Given the description of an element on the screen output the (x, y) to click on. 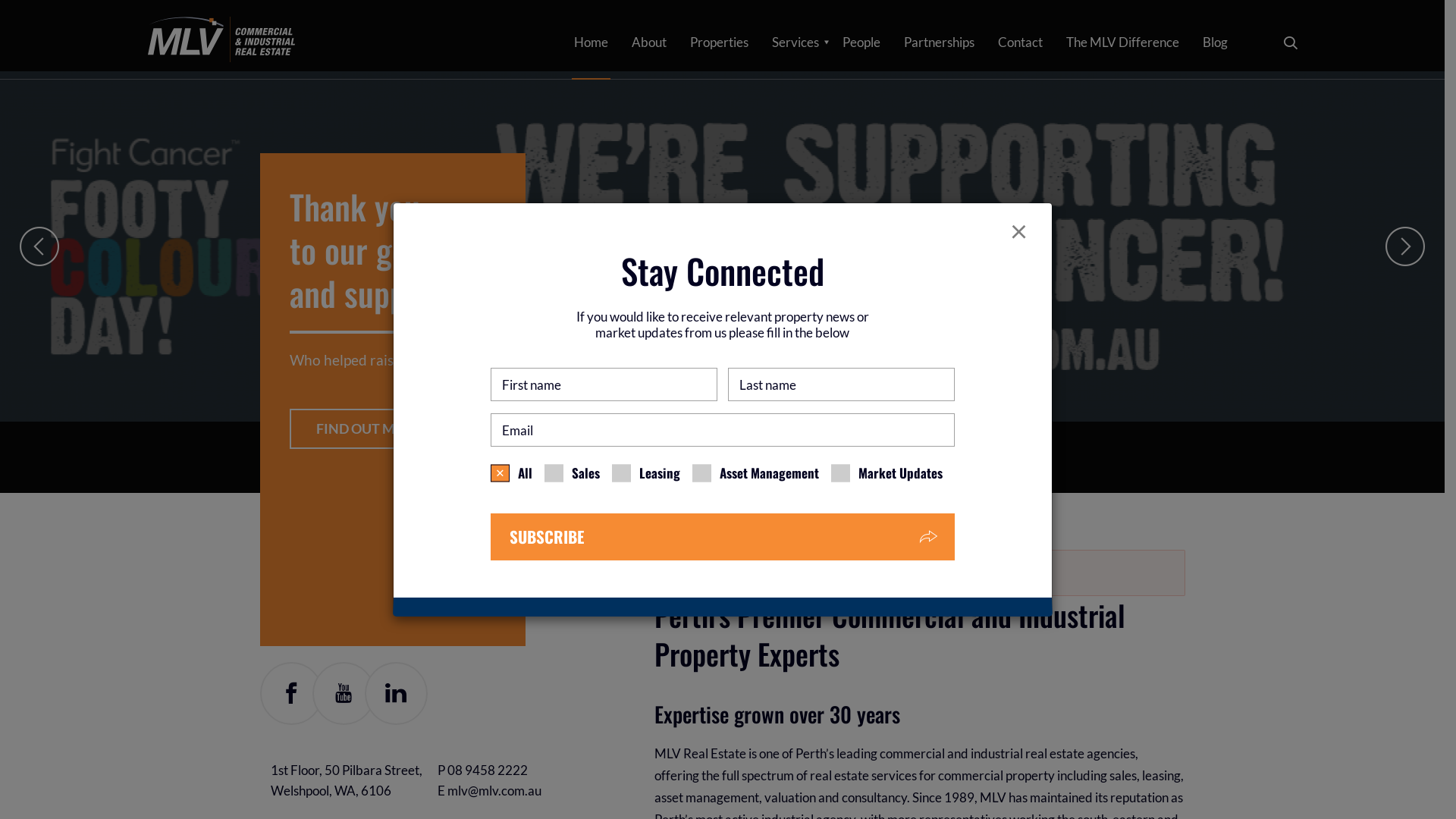
Home Element type: hover (220, 37)
People Element type: text (860, 42)
mlv@mlv.com.au Element type: text (494, 790)
08 9458 2222 Element type: text (487, 770)
Home Element type: text (590, 42)
Services Element type: text (795, 42)
Properties Element type: text (719, 42)
SUBSCRIBE Element type: text (721, 536)
Contact Element type: text (1019, 42)
FIND OUT MORE Element type: text (368, 406)
About Element type: text (647, 42)
Blog Element type: text (1214, 42)
The MLV Difference Element type: text (1122, 42)
Partnerships Element type: text (938, 42)
